Given the description of an element on the screen output the (x, y) to click on. 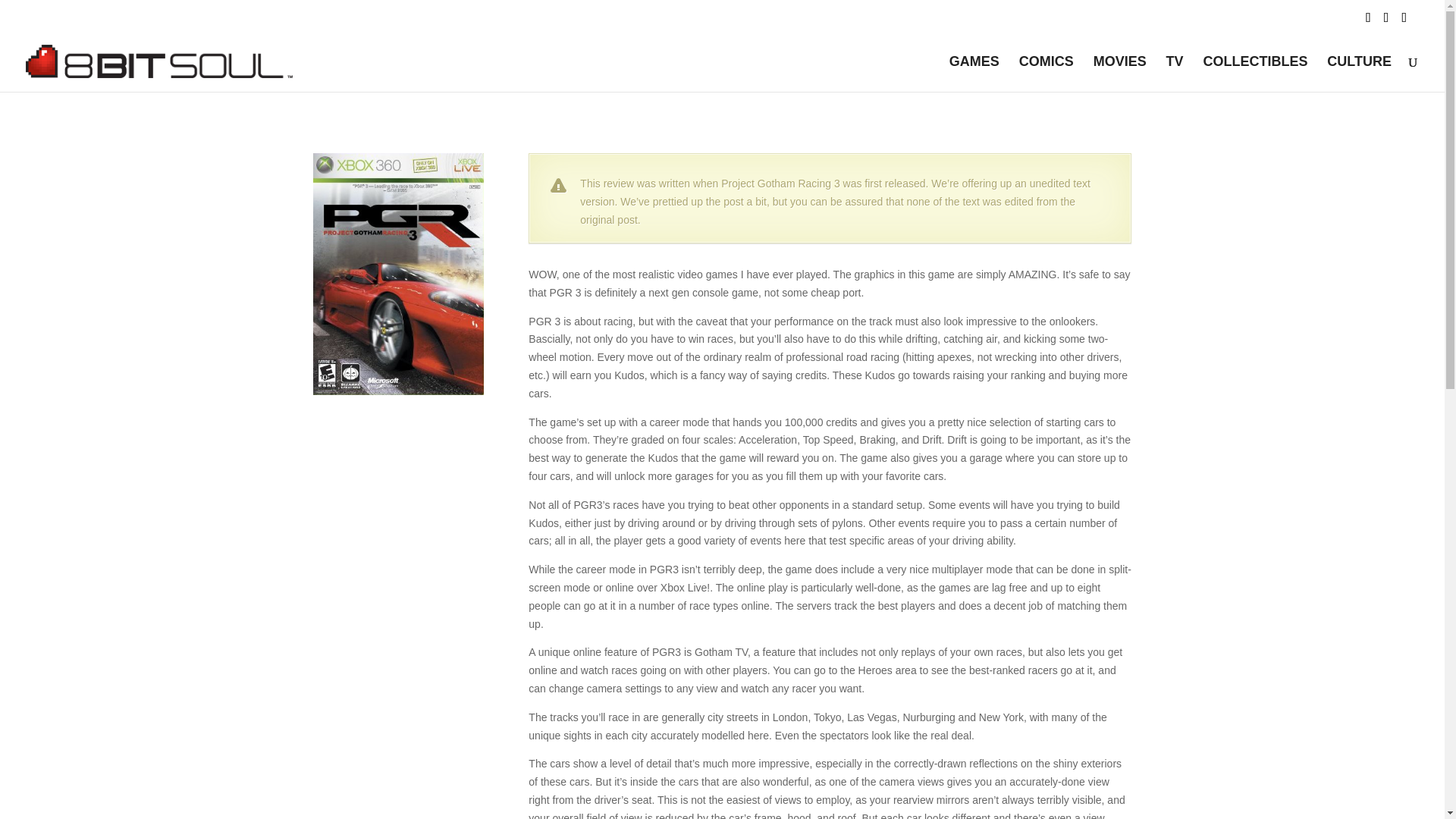
COMICS (1046, 73)
COLLECTIBLES (1254, 73)
GAMES (973, 73)
MOVIES (1120, 73)
CULTURE (1358, 73)
